Given the description of an element on the screen output the (x, y) to click on. 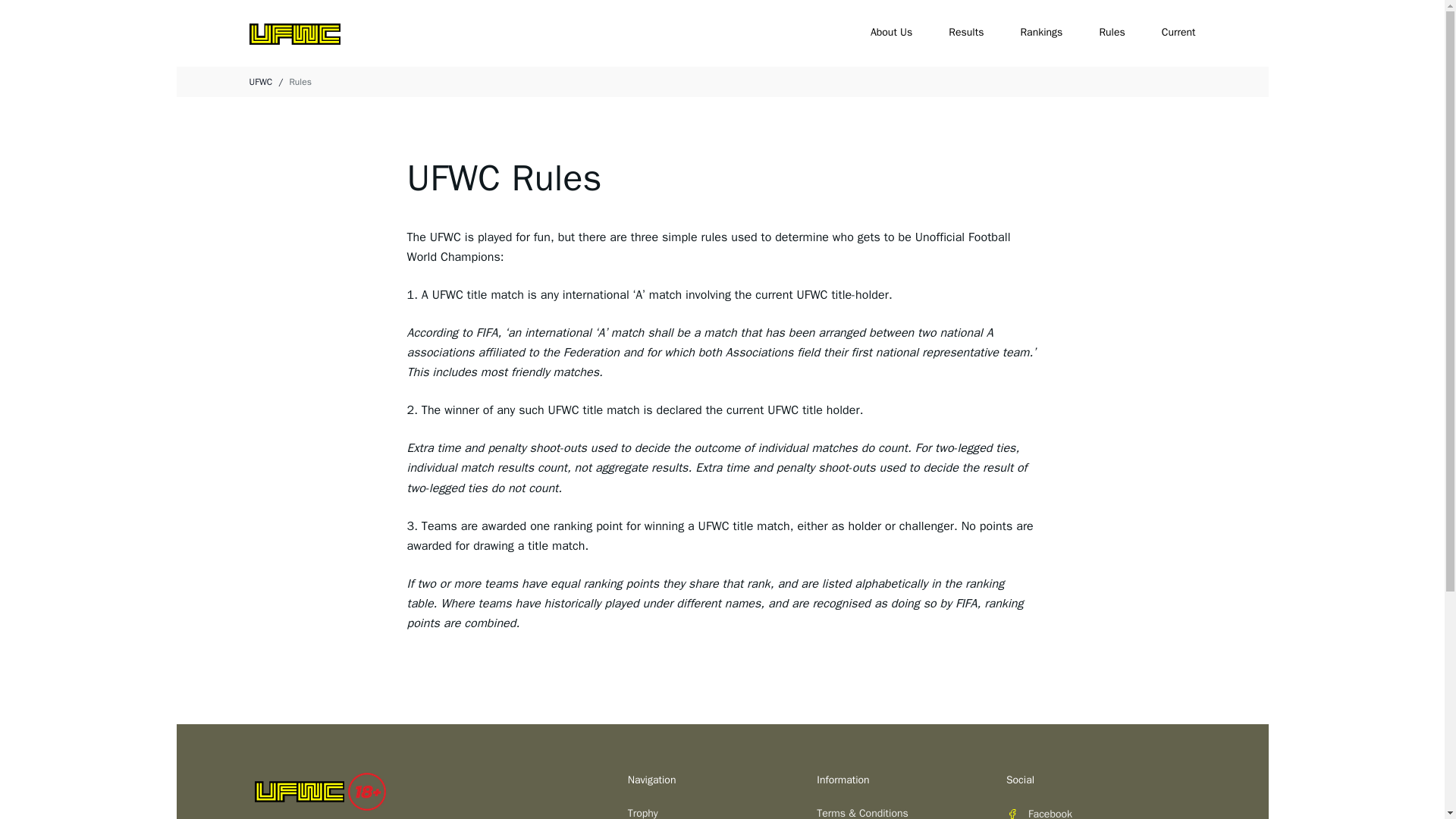
UFWC (260, 81)
Results (966, 31)
Rankings (1041, 31)
About Us (891, 31)
Trophy (721, 812)
